Given the description of an element on the screen output the (x, y) to click on. 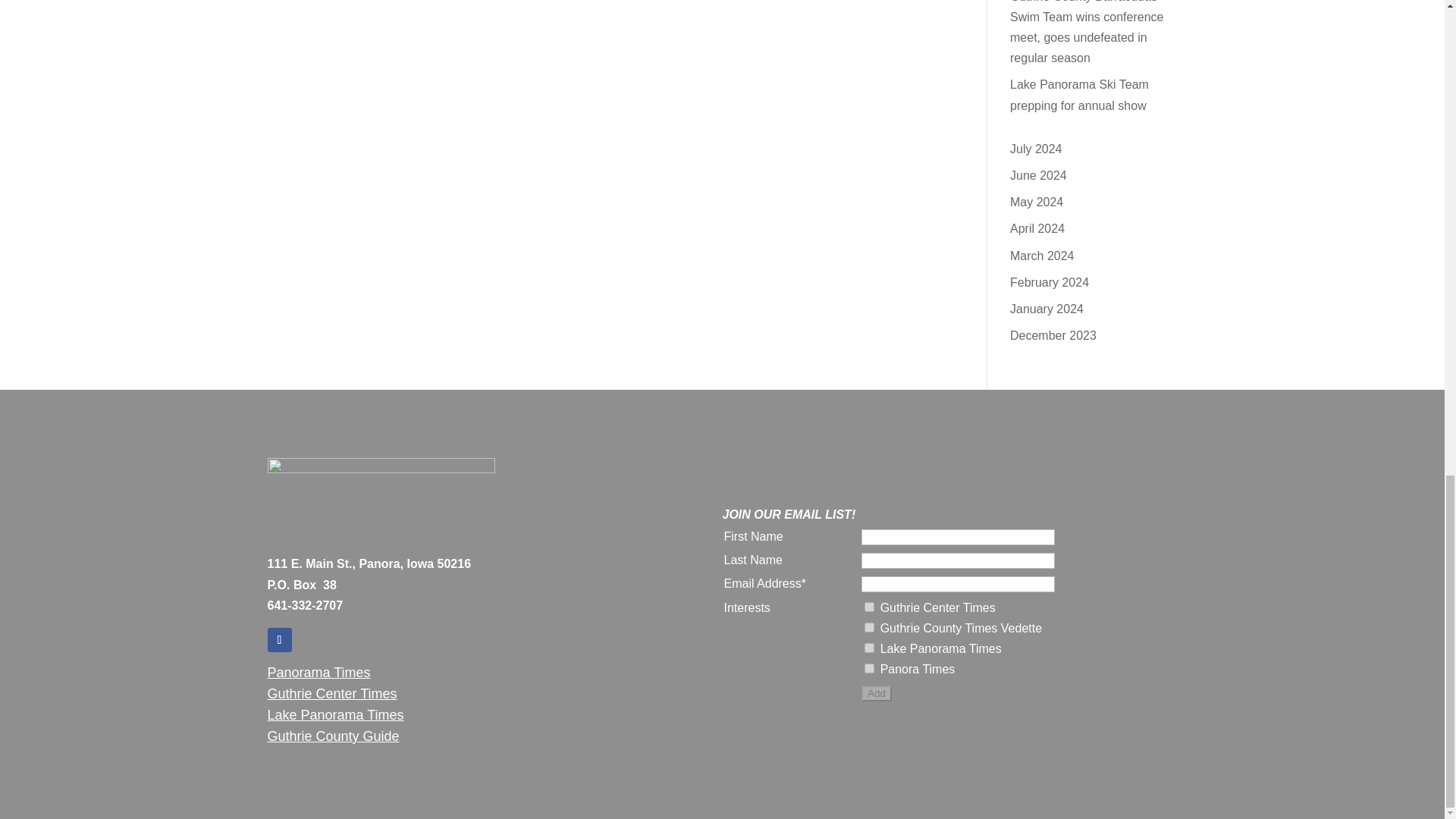
on (869, 627)
Follow on Facebook (278, 639)
on (869, 668)
Add (876, 693)
on (869, 647)
on (869, 606)
